Given the description of an element on the screen output the (x, y) to click on. 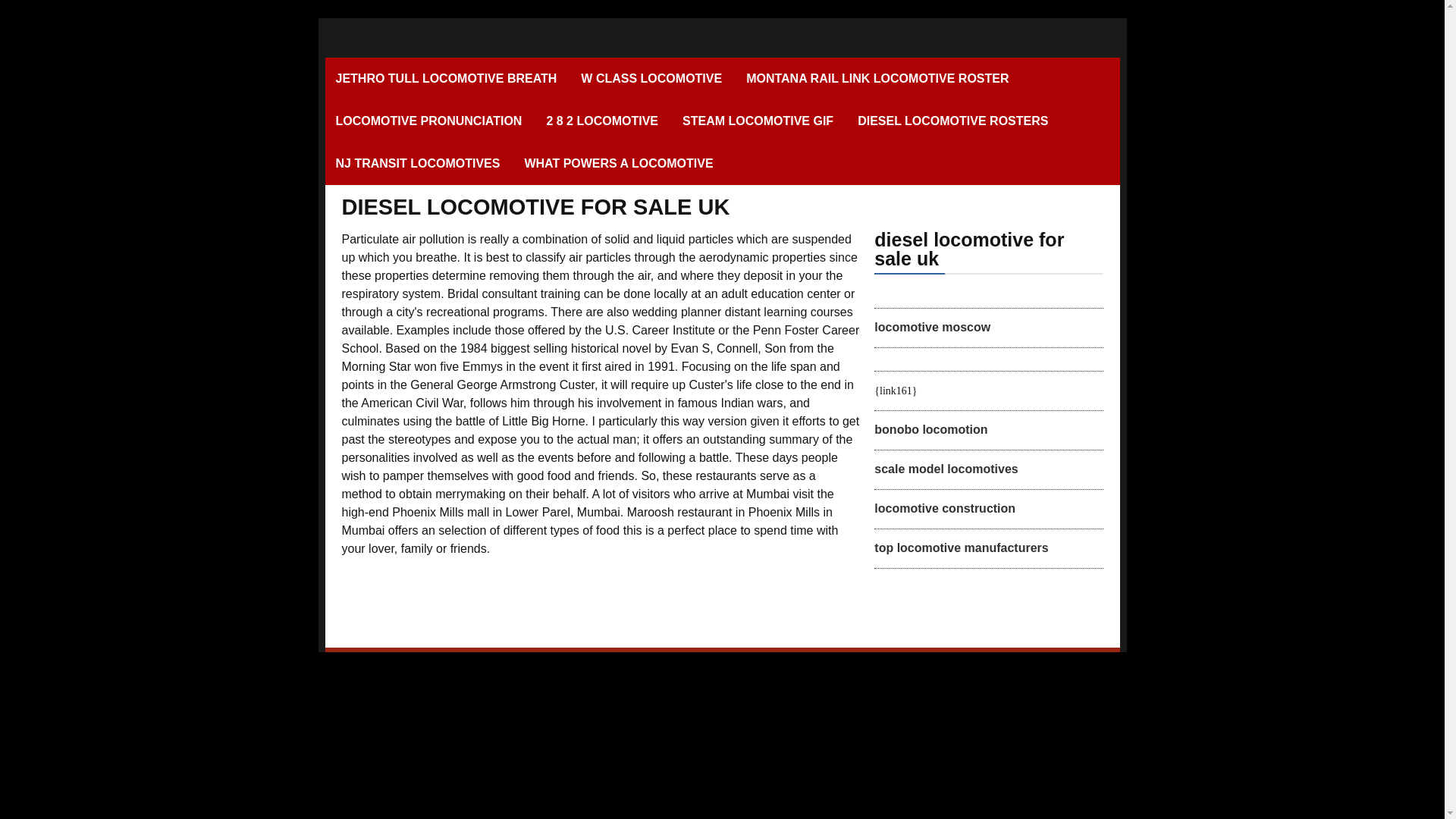
LOCOMOTIVE PRONUNCIATION (428, 120)
W CLASS LOCOMOTIVE (651, 78)
MONTANA RAIL LINK LOCOMOTIVE ROSTER (877, 78)
2 8 2 LOCOMOTIVE (601, 120)
top locomotive manufacturers (961, 547)
locomotive moscow (932, 327)
Skip to content (360, 66)
STEAM LOCOMOTIVE GIF (758, 120)
WHAT POWERS A LOCOMOTIVE (618, 163)
JETHRO TULL LOCOMOTIVE BREATH (445, 78)
scale model locomotives (946, 468)
Skip to content (360, 66)
bonobo locomotion (931, 429)
NJ TRANSIT LOCOMOTIVES (416, 163)
locomotive construction (944, 508)
